Given the description of an element on the screen output the (x, y) to click on. 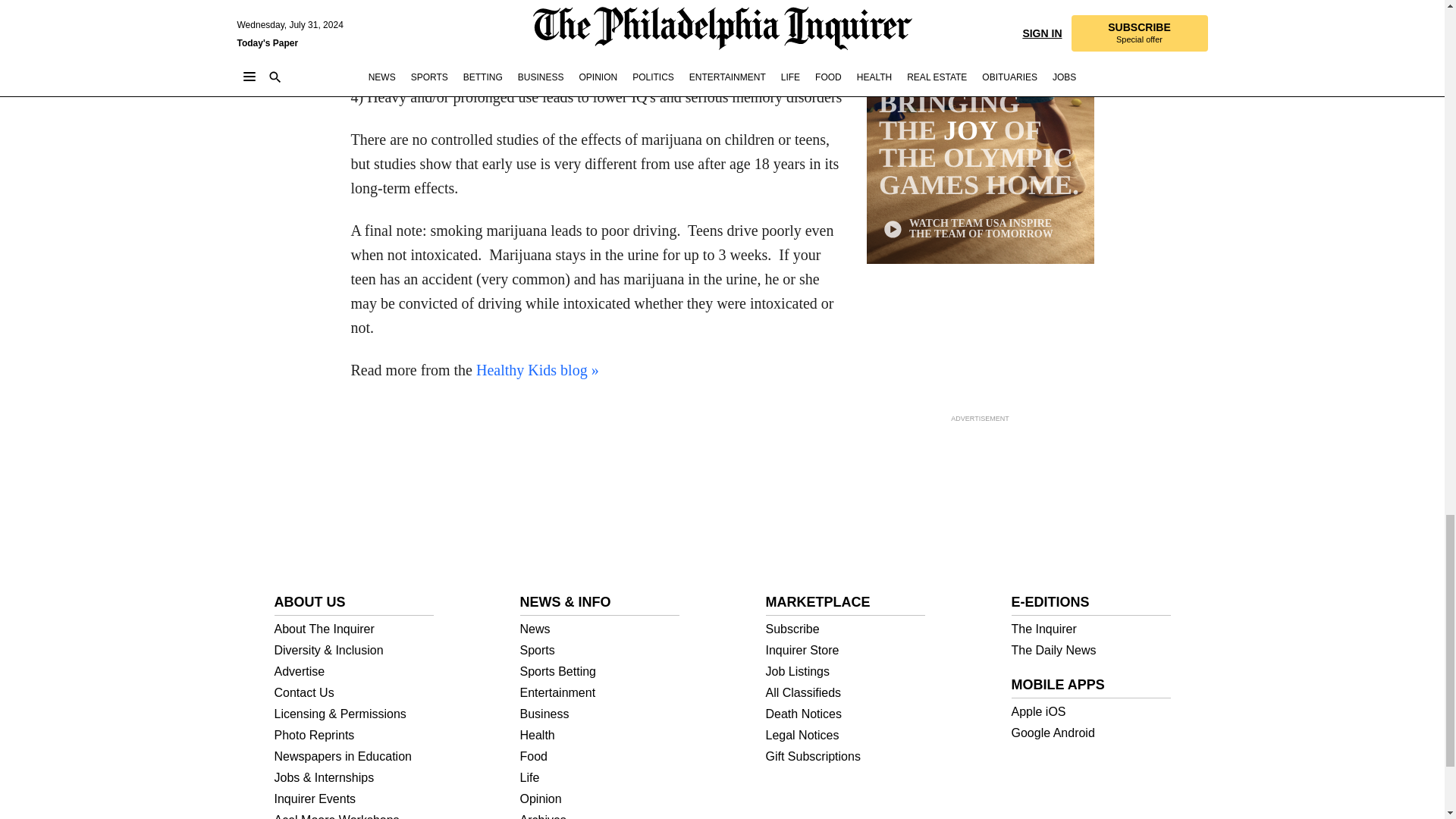
Contact Us (354, 693)
About The Inquirer (354, 629)
Advertise (354, 671)
